Given the description of an element on the screen output the (x, y) to click on. 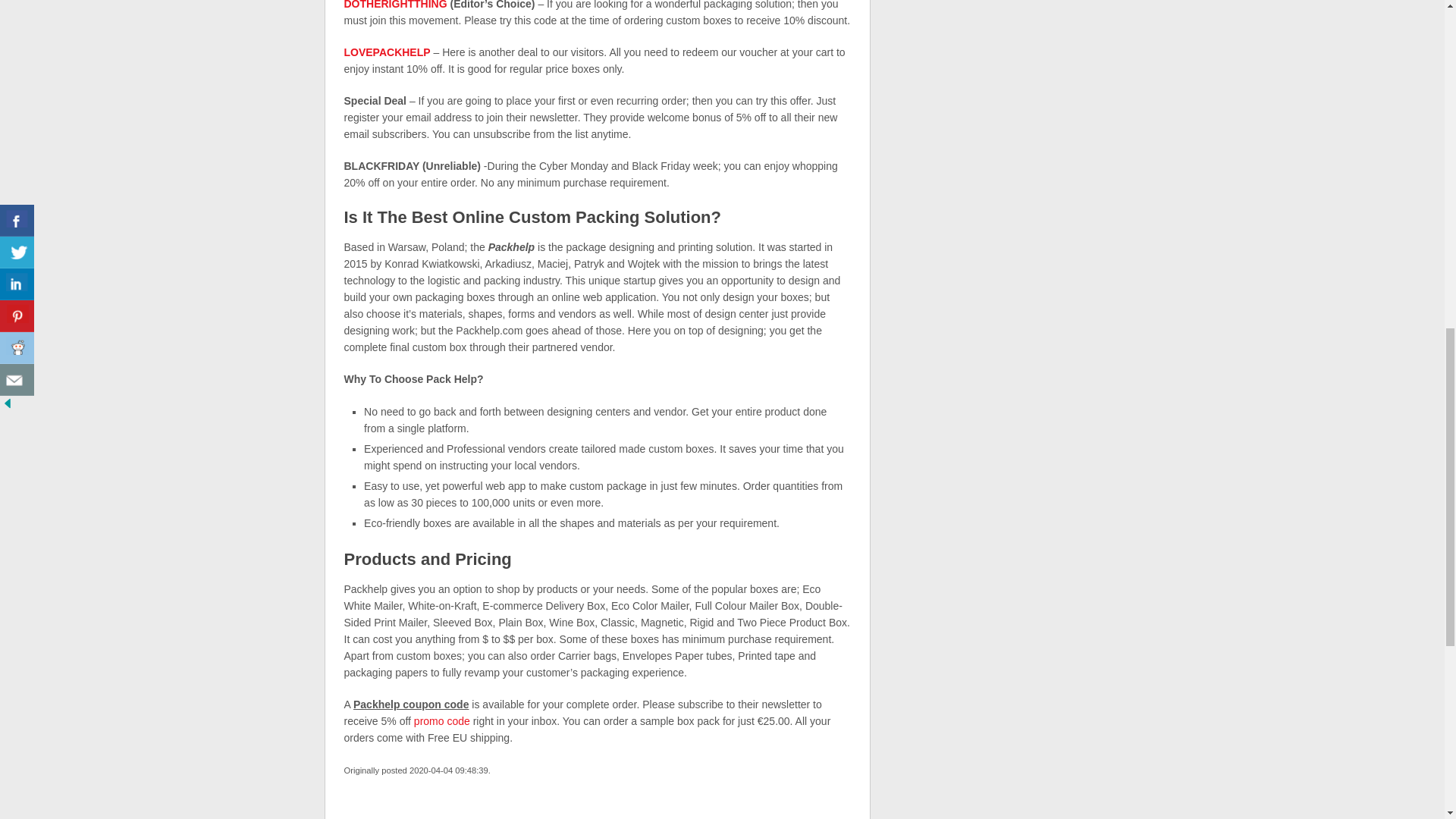
promo code (441, 720)
LOVEPACKHELP (386, 51)
DOTHERIGHTTHING (394, 4)
